Given the description of an element on the screen output the (x, y) to click on. 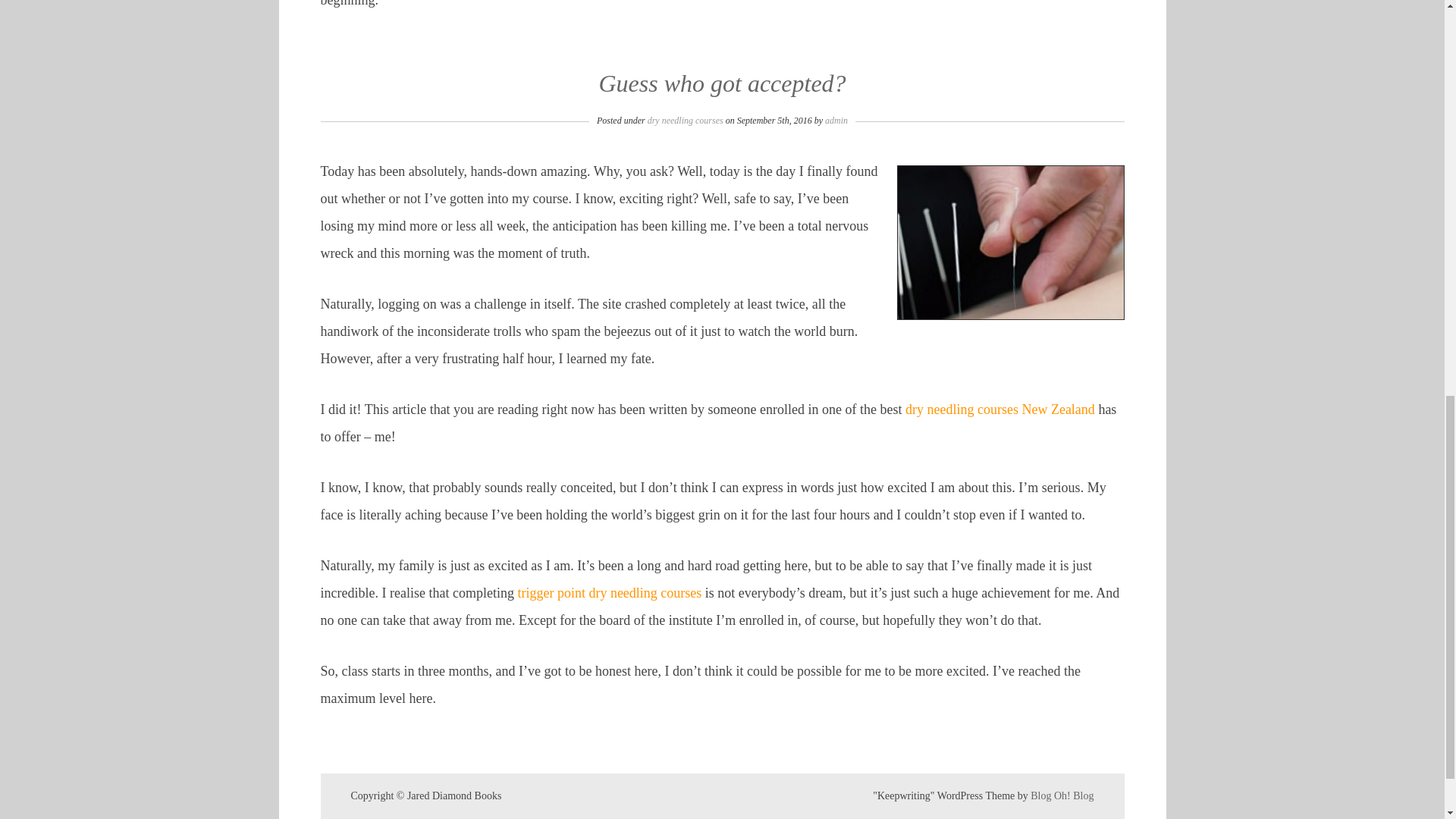
Permanent Link to Guess who got accepted? (721, 83)
Posts by admin (836, 120)
Blog Oh! Blog (1061, 795)
dry needling courses New Zealand (999, 409)
admin (836, 120)
dry needling courses (685, 120)
Free WordPress Themes (1061, 795)
trigger point dry needling courses (608, 592)
Guess who got accepted? (721, 83)
